Given the description of an element on the screen output the (x, y) to click on. 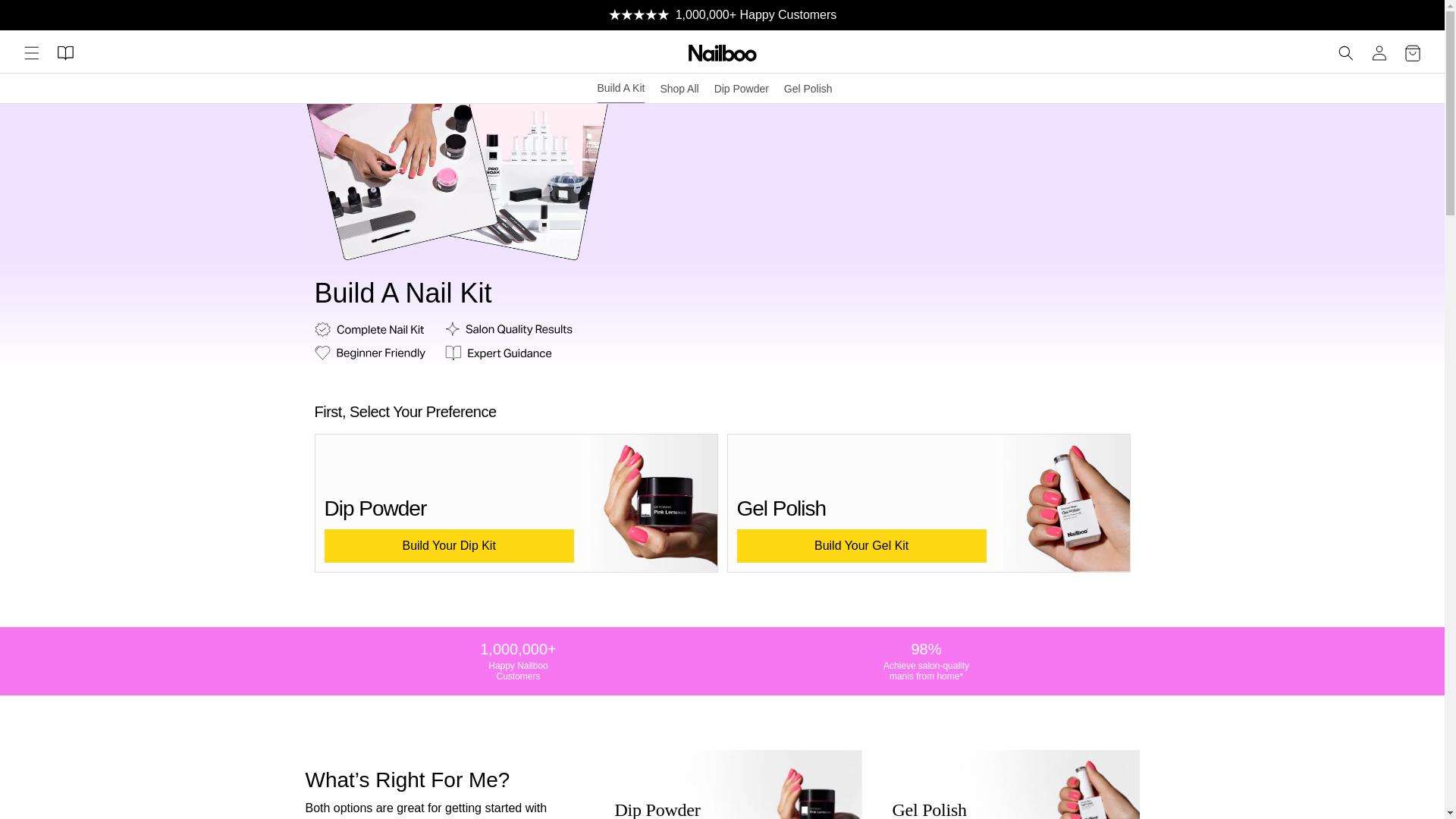
Educational (64, 52)
Cart (1412, 52)
Shop All (678, 88)
Build Your Dip Kit (448, 545)
Gel Polish (808, 88)
Dip Powder (741, 88)
Build A Kit (620, 88)
Build Your Gel Kit (861, 545)
Log in (1379, 52)
Skip to content (45, 17)
